Given the description of an element on the screen output the (x, y) to click on. 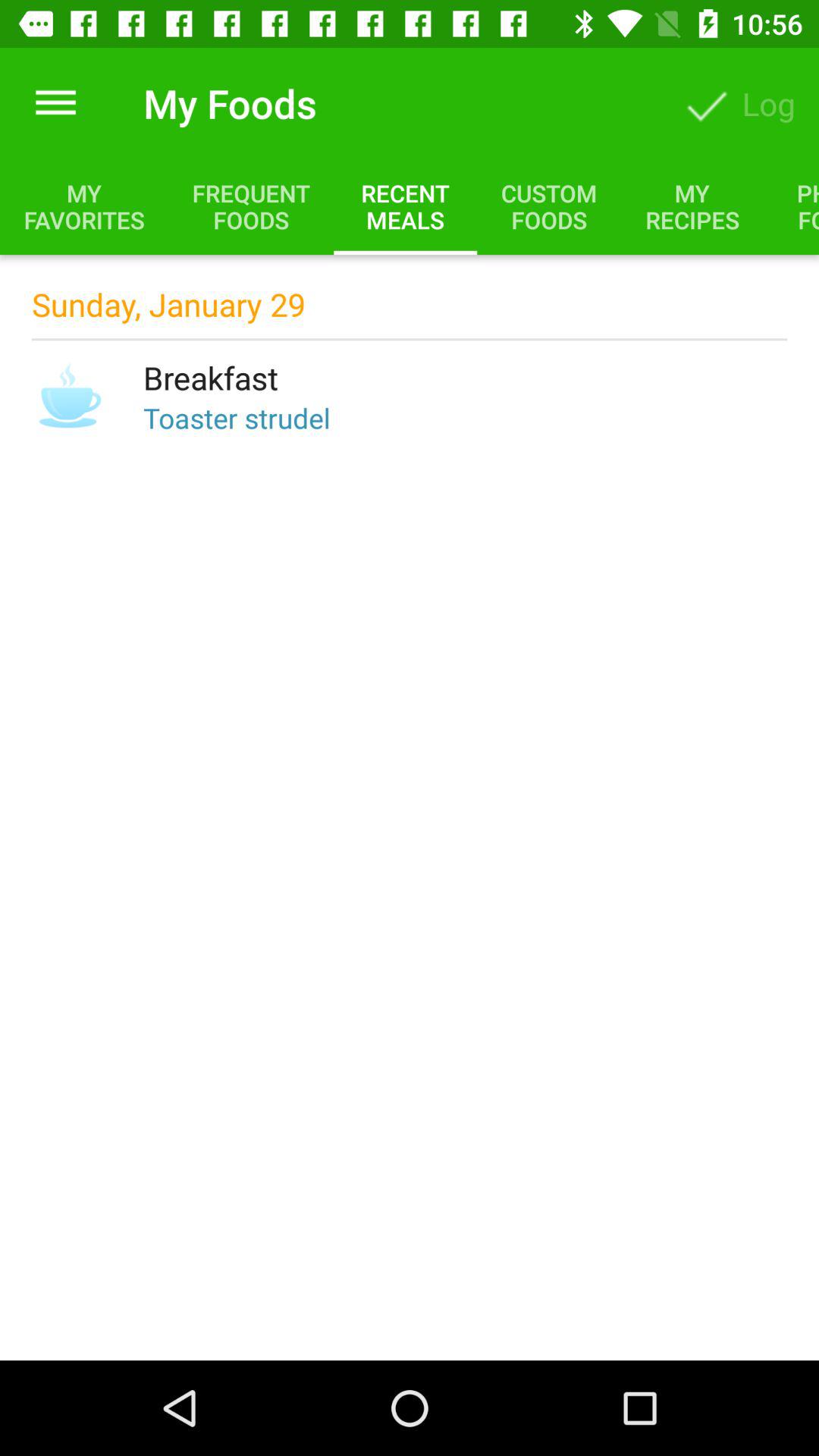
select the item to the left of the my foods (55, 103)
